Given the description of an element on the screen output the (x, y) to click on. 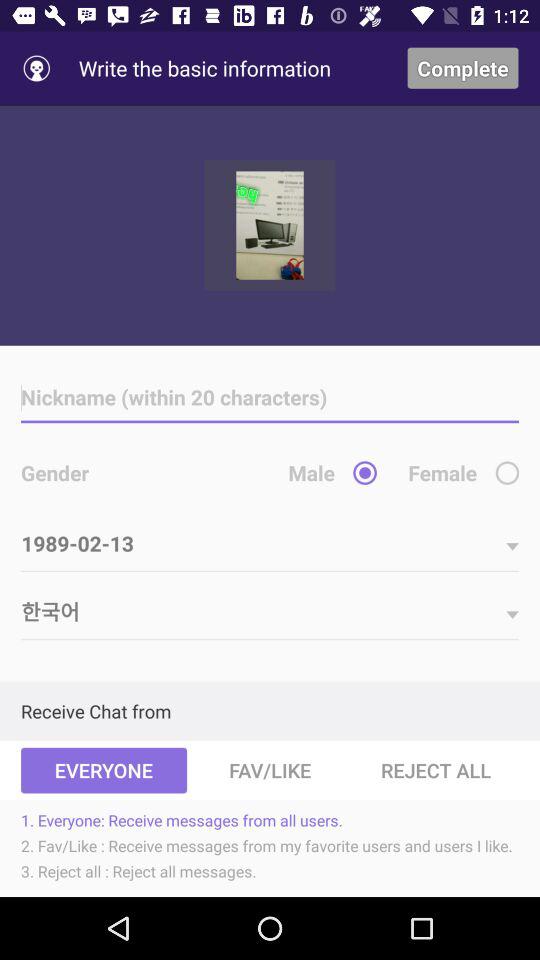
select female (507, 472)
